Given the description of an element on the screen output the (x, y) to click on. 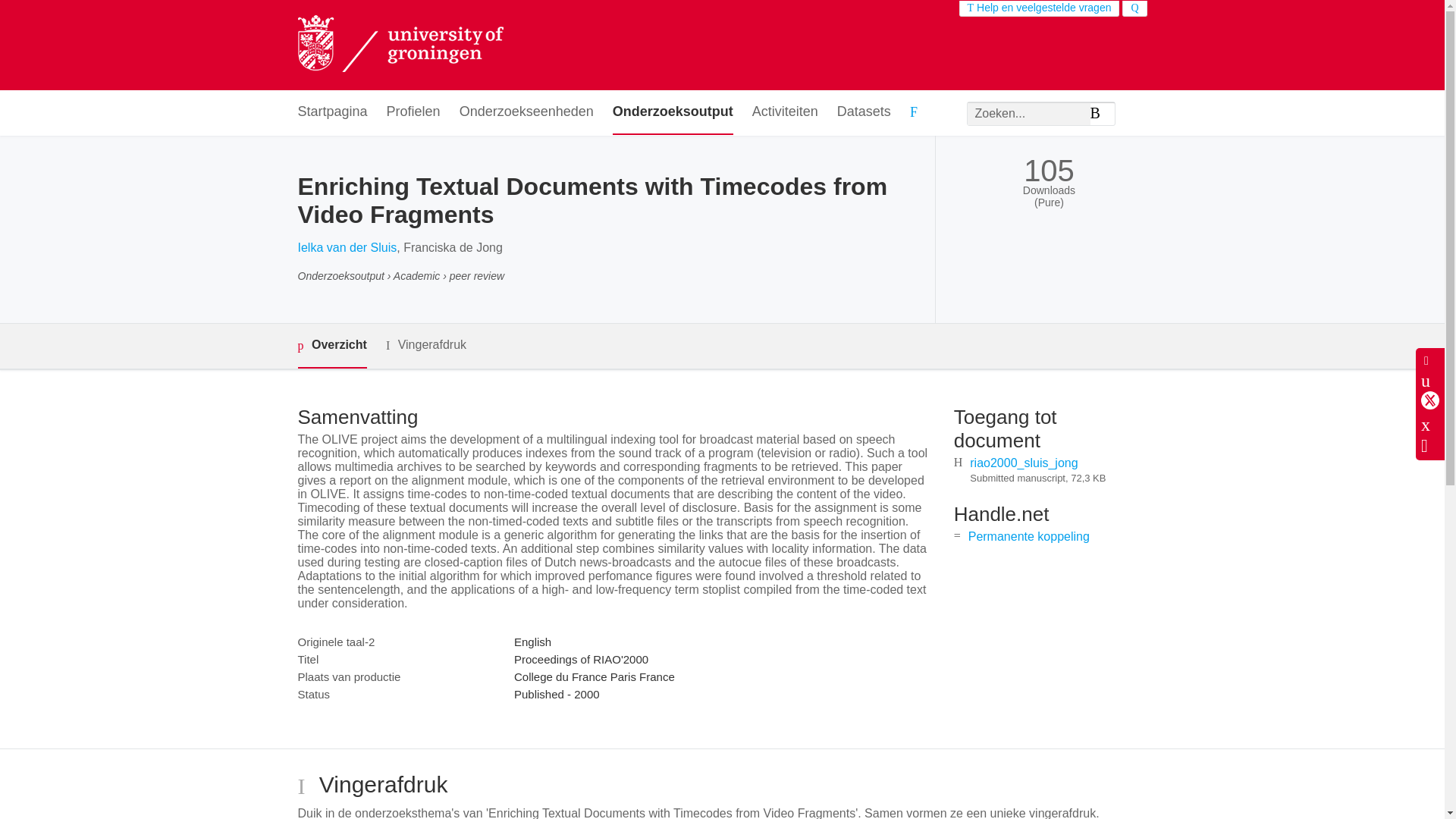
Overzicht (331, 345)
Activiteiten (785, 112)
Onderzoeksoutput (672, 112)
Ielka van der Sluis (346, 246)
Help en veelgestelde vragen (1039, 7)
Vingerafdruk (425, 344)
Permanente koppeling (1028, 535)
Onderzoekseenheden (527, 112)
Datasets (864, 112)
Startpagina (331, 112)
Profielen (414, 112)
